Given the description of an element on the screen output the (x, y) to click on. 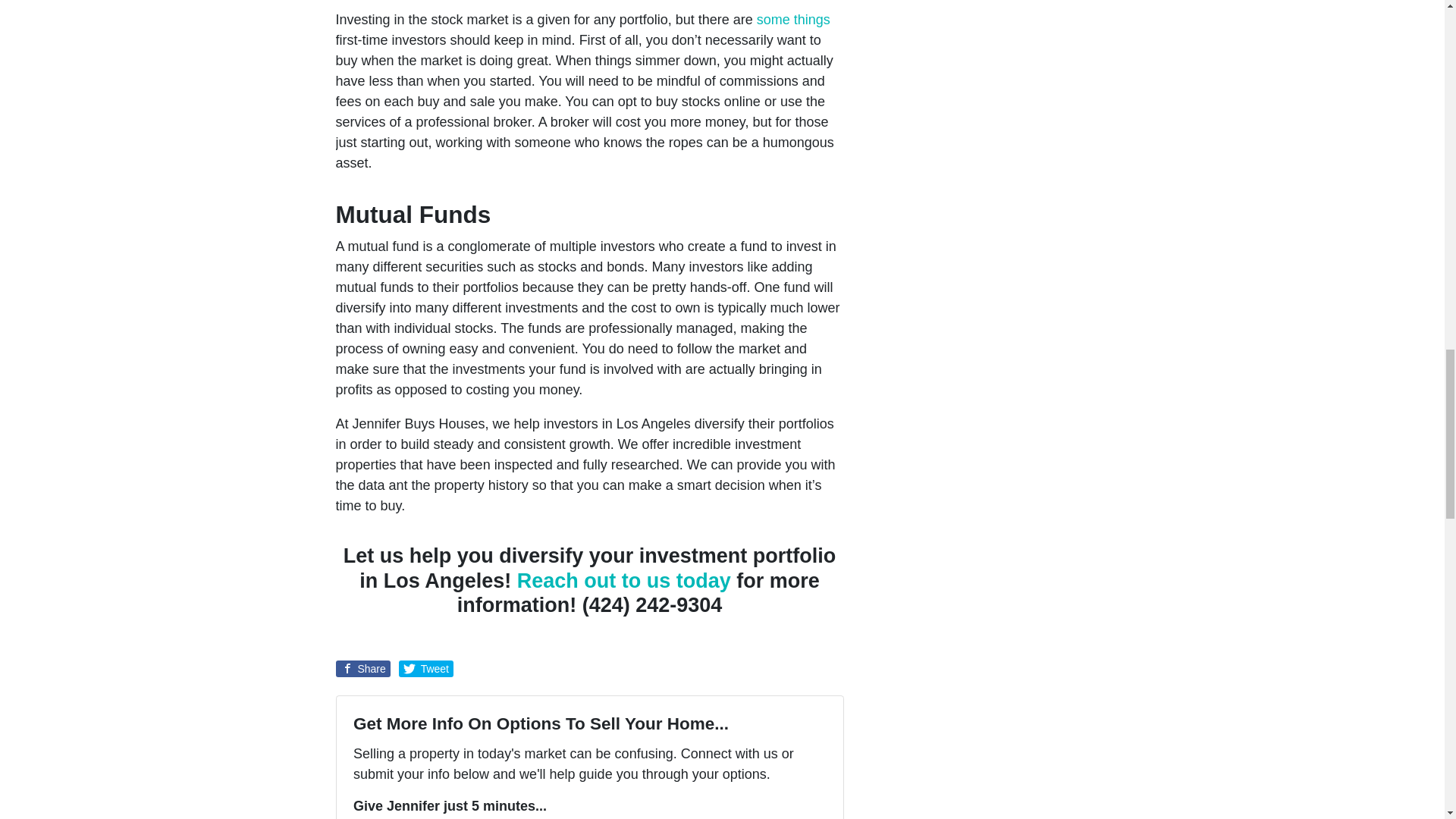
Reach out to us today (623, 580)
Share on Facebook (362, 668)
some things (793, 19)
Tweet (425, 668)
Share (362, 668)
Share on Twitter (425, 668)
